Given the description of an element on the screen output the (x, y) to click on. 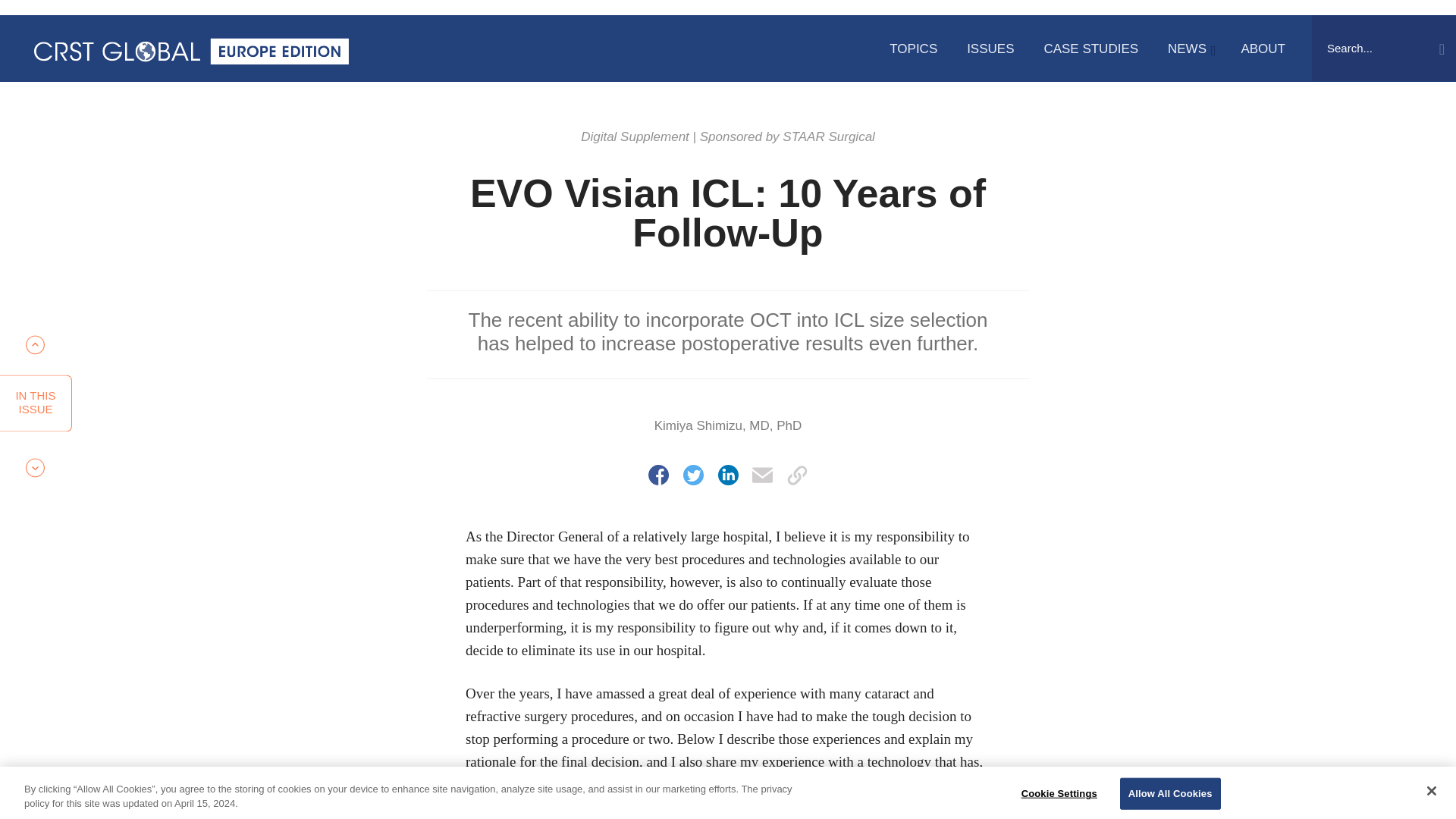
NEWS (1189, 48)
ISSUES (989, 48)
ABOUT (35, 402)
CASE STUDIES (1262, 48)
TOPICS (1090, 48)
